Given the description of an element on the screen output the (x, y) to click on. 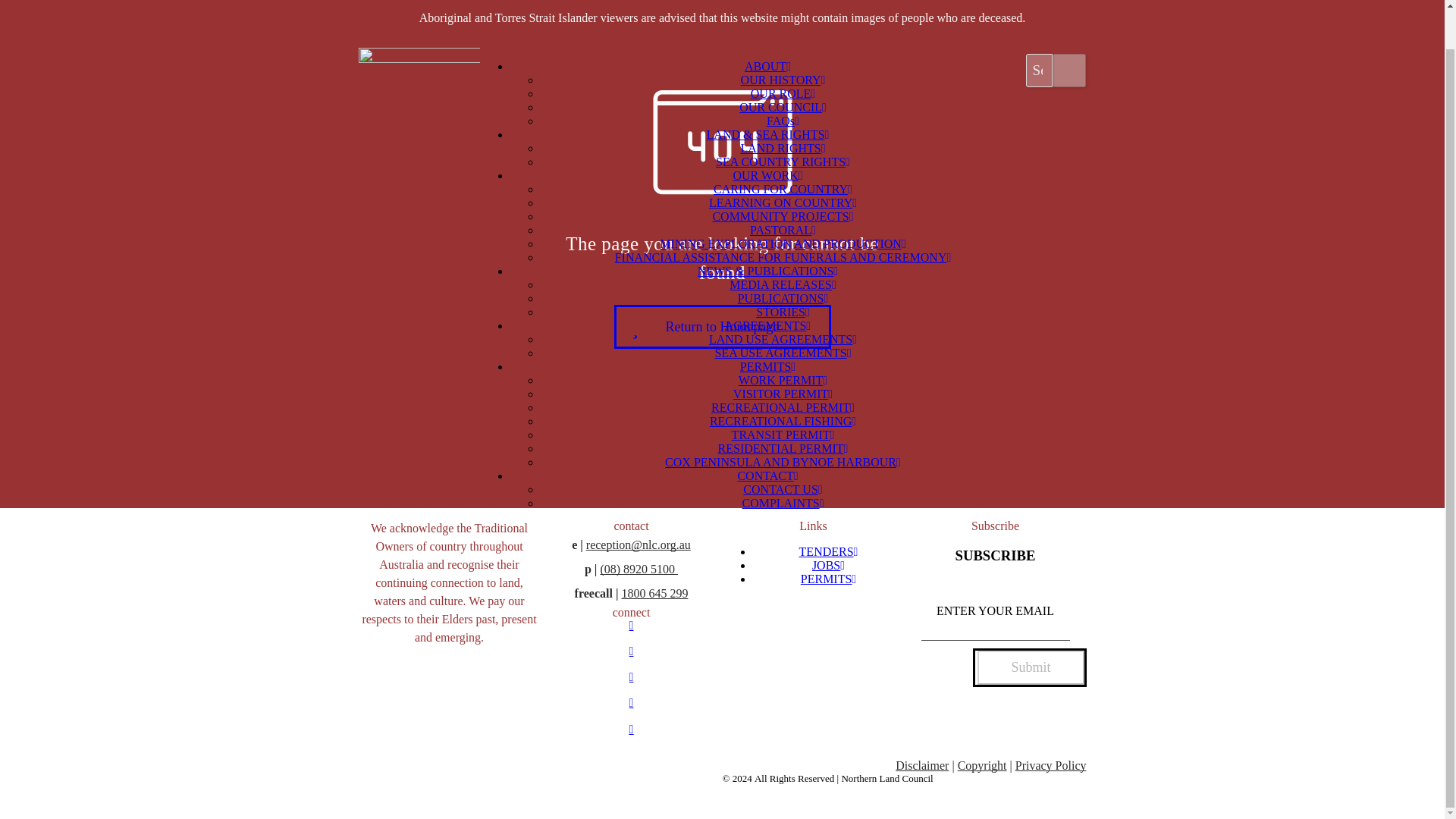
Submit (1030, 667)
